Given the description of an element on the screen output the (x, y) to click on. 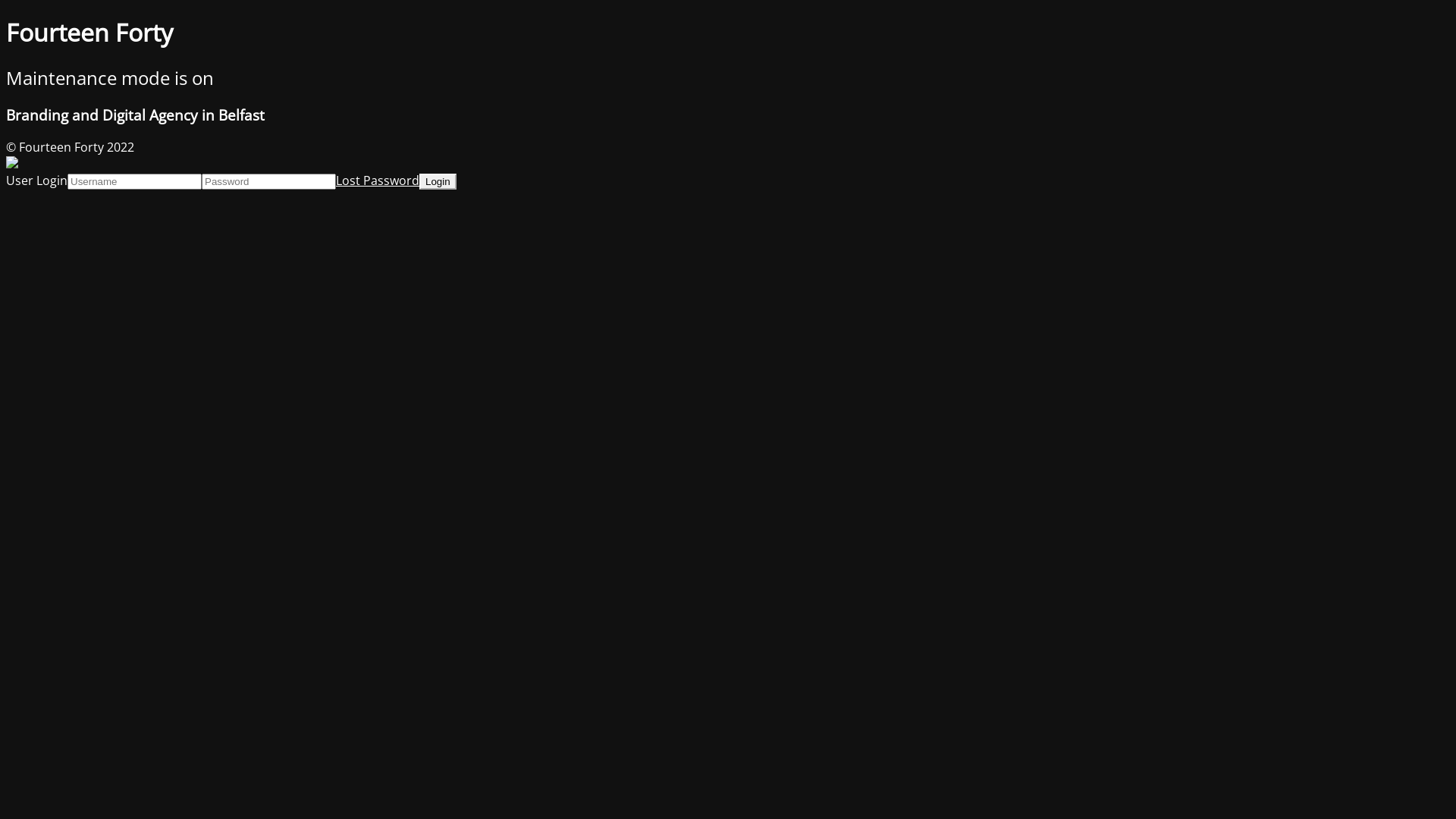
Login Element type: text (437, 180)
Lost Password Element type: text (377, 179)
